Given the description of an element on the screen output the (x, y) to click on. 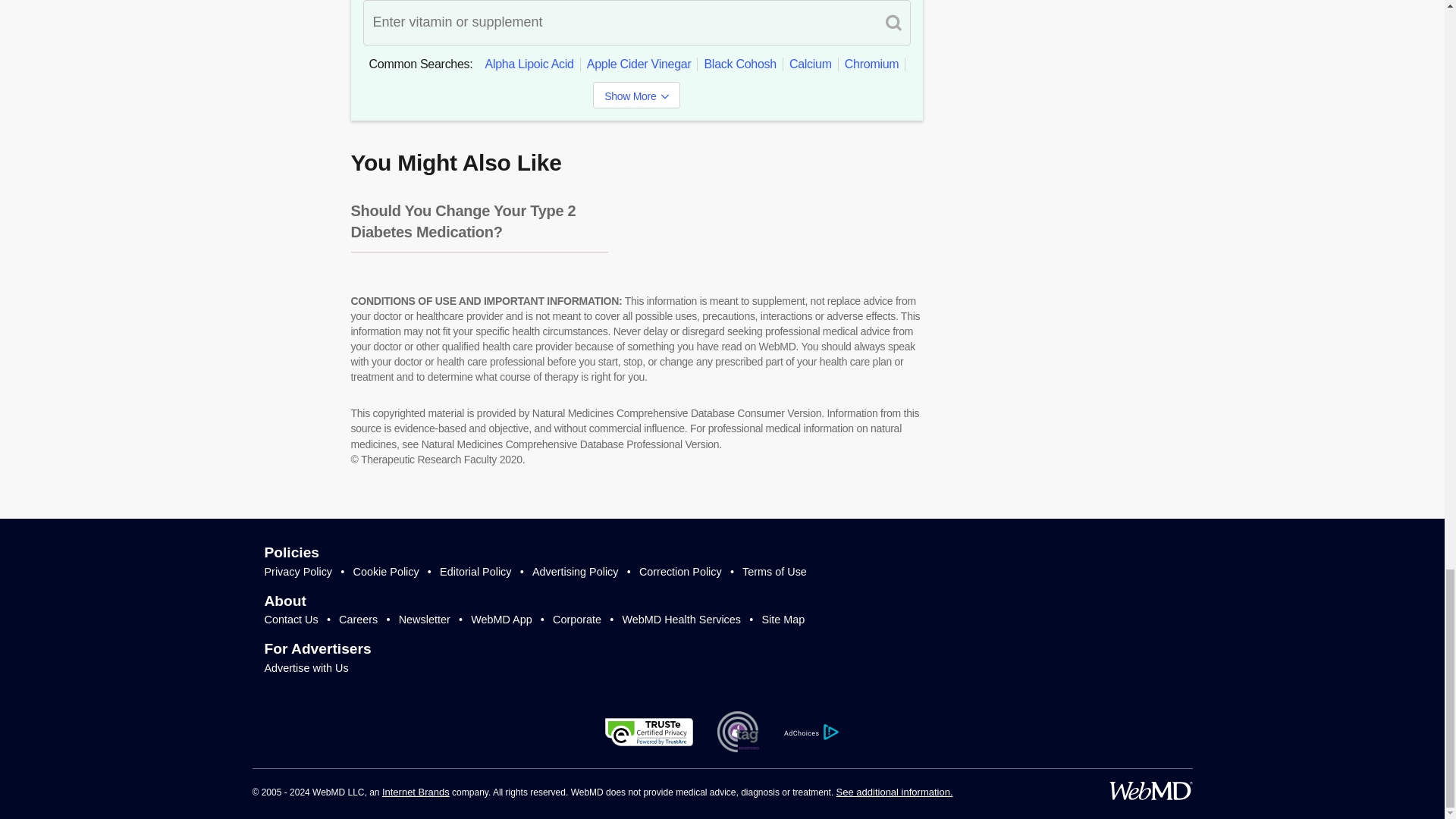
TAG Registered Seal (737, 731)
WebMD: Better information. Better health. (1150, 790)
TRUSTe Privacy Certification (649, 732)
Adchoices (811, 731)
